Given the description of an element on the screen output the (x, y) to click on. 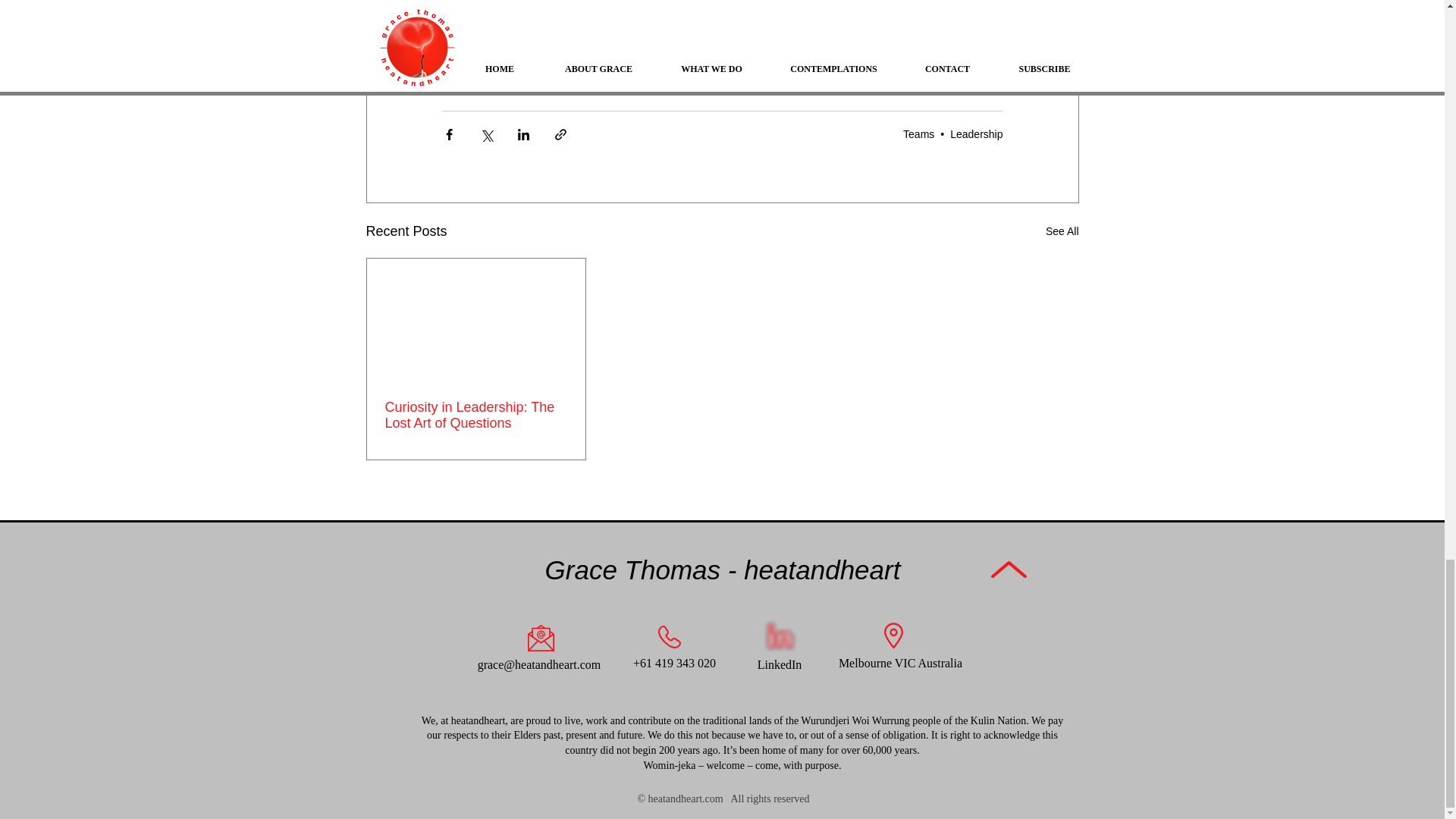
Teams (918, 133)
See All (1061, 231)
Melbourne VIC Australia (900, 662)
Curiosity in Leadership: The Lost Art of Questions (476, 415)
Leadership (976, 133)
